Given the description of an element on the screen output the (x, y) to click on. 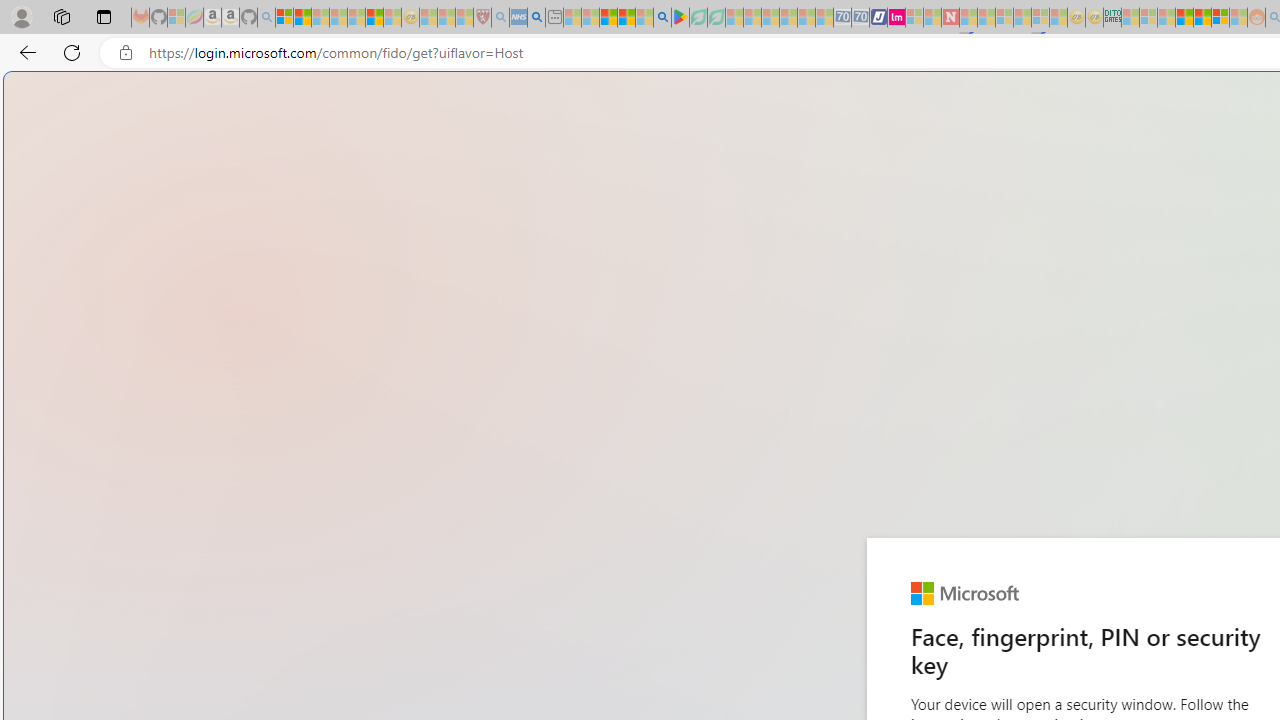
The Weather Channel - MSN - Sleeping (320, 17)
Pets - MSN (626, 17)
DITOGAMES AG Imprint (1112, 17)
